Given the description of an element on the screen output the (x, y) to click on. 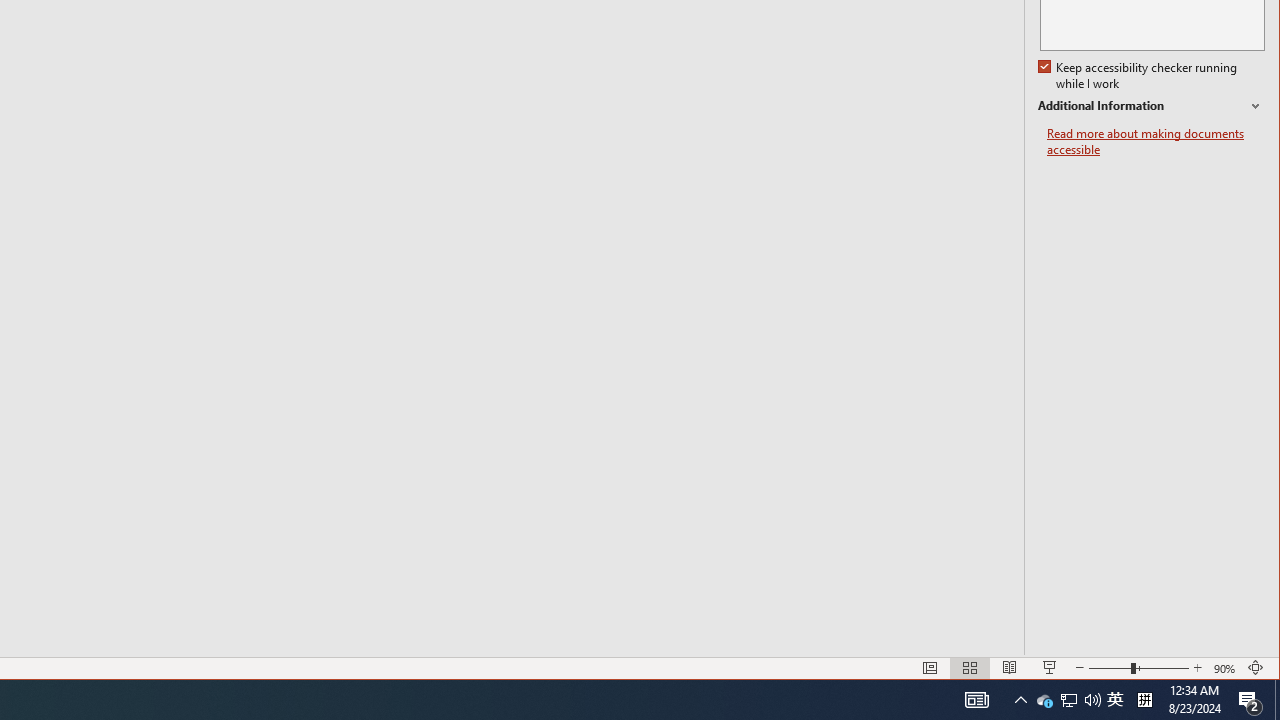
Zoom 90% (1225, 668)
